Given the description of an element on the screen output the (x, y) to click on. 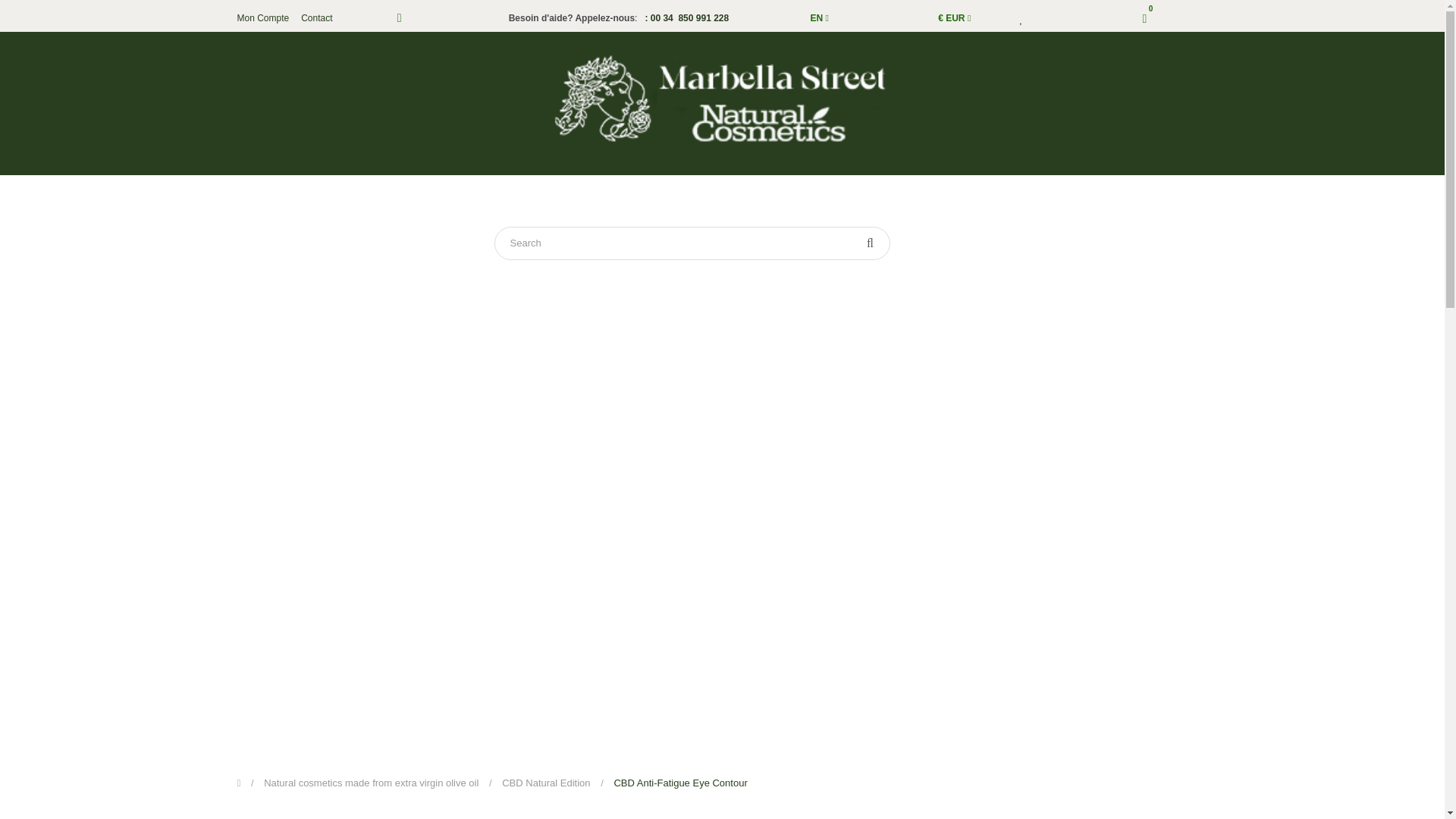
Home (456, 190)
CBD Natural Edition (549, 782)
Refresh (24, 10)
search (869, 243)
Contact (316, 17)
Contact Us (917, 190)
Mon Compte (261, 17)
  : 00 34  850 991 228 (684, 18)
CBD - Natural Edition (792, 190)
Natural cosmetics made from extra virgin olive oil (374, 782)
